Given the description of an element on the screen output the (x, y) to click on. 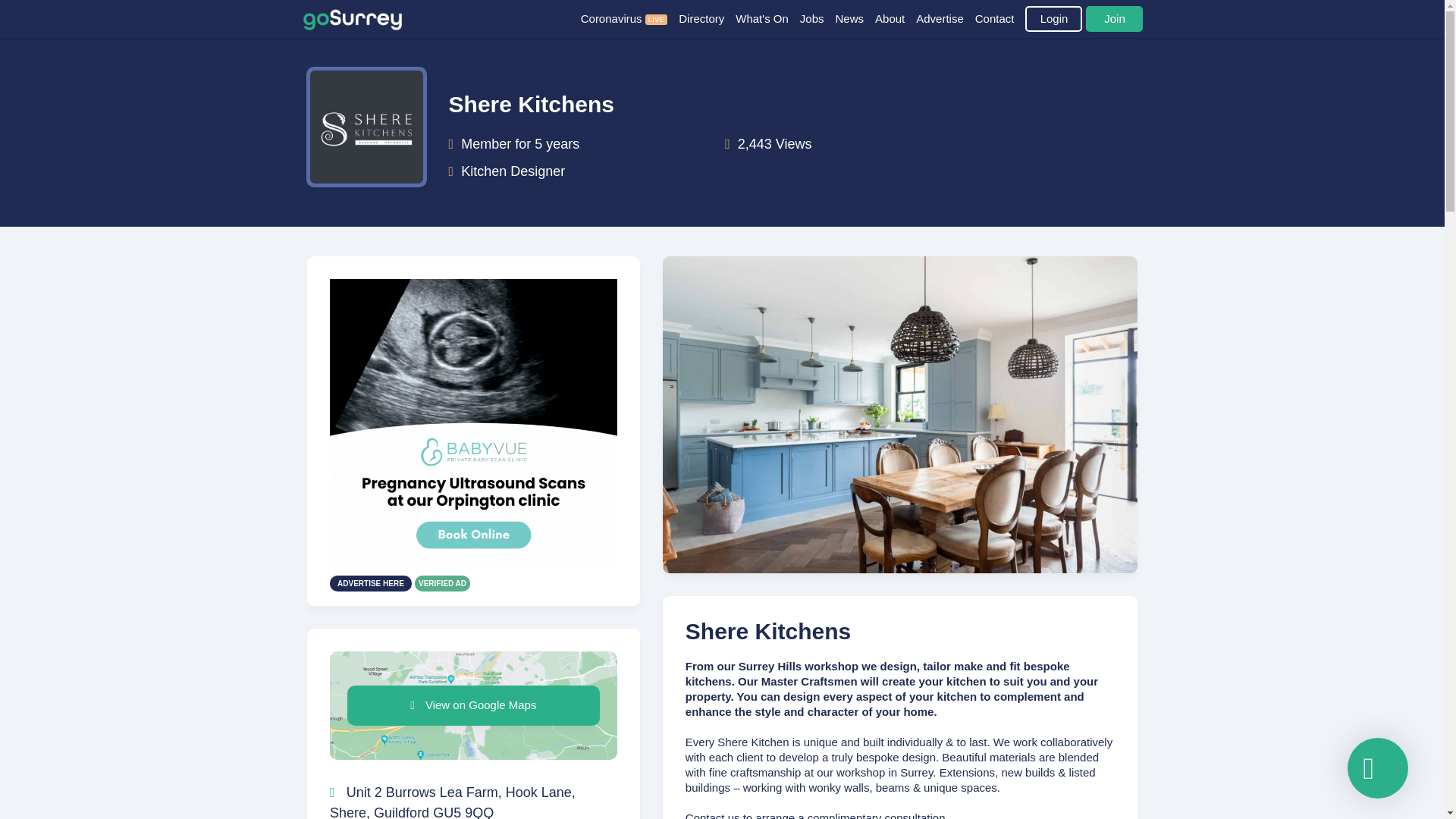
About (895, 18)
About Go Surrey (895, 18)
ADVERTISE HERE VERIFIED AD (473, 649)
Login (1053, 18)
Login (1053, 18)
News (855, 18)
Go Surrey (352, 18)
Contact Go Surrey (1000, 18)
Surrey News (855, 18)
What's On (767, 18)
Jobs (817, 18)
What's on in Surrey (767, 18)
Advertise Here (473, 649)
Advertise (945, 18)
Surrey Jobs (817, 18)
